Given the description of an element on the screen output the (x, y) to click on. 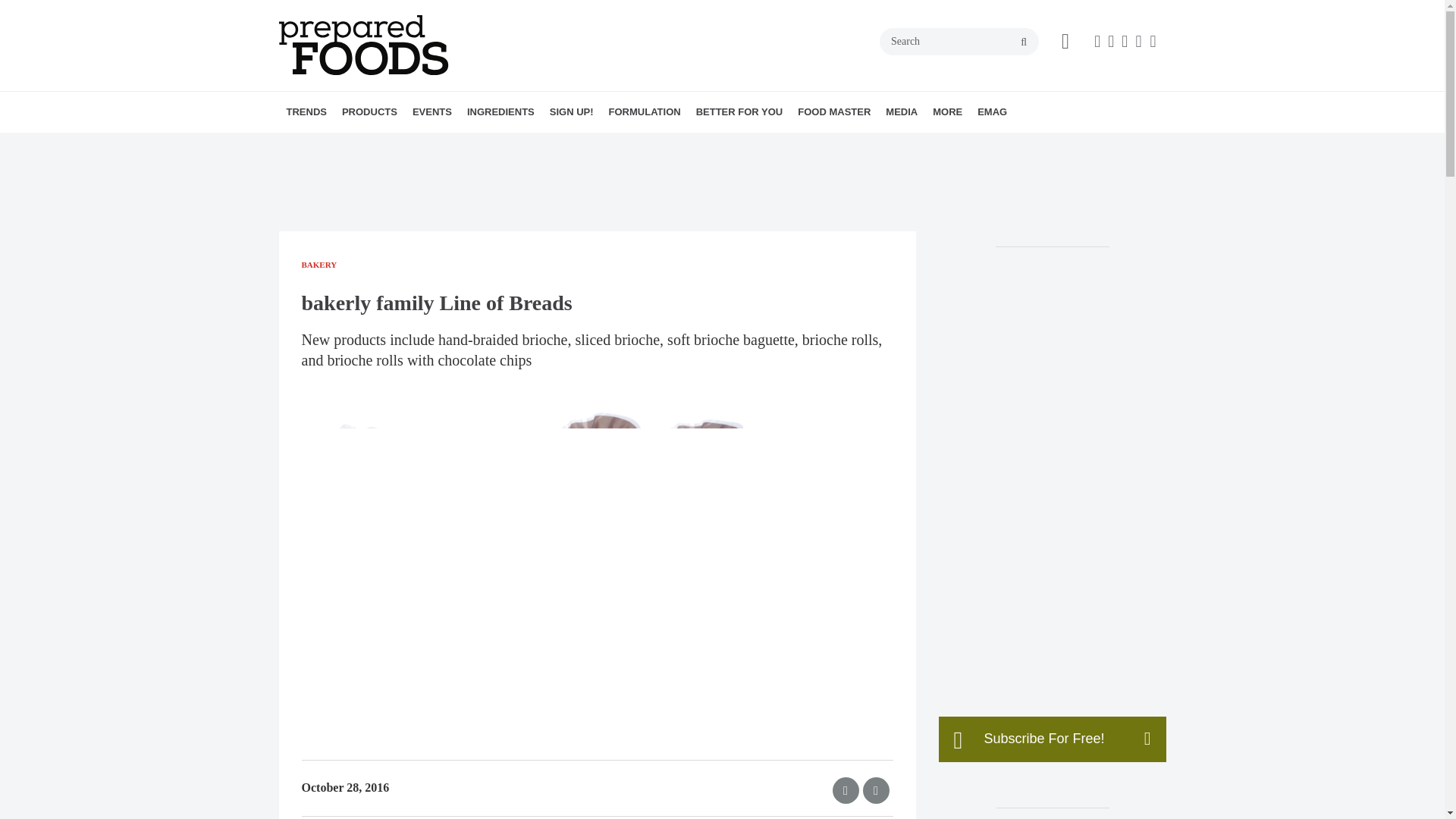
SPIRIT OF INNOVATION AWARDS (506, 145)
BAKERY (429, 145)
Search (959, 41)
PRODUCTS (369, 111)
BEVERAGES (436, 145)
2023 TRENDS (380, 145)
Search (959, 41)
DAIRY (456, 145)
2024 TRENDS (373, 145)
INDUSTRY EVENTS (513, 145)
COLORINGS (560, 145)
EVENTS (432, 111)
NEW PRODUCTS CONFERENCE (499, 145)
SOUPS (472, 145)
INGREDIENTS (500, 111)
